Given the description of an element on the screen output the (x, y) to click on. 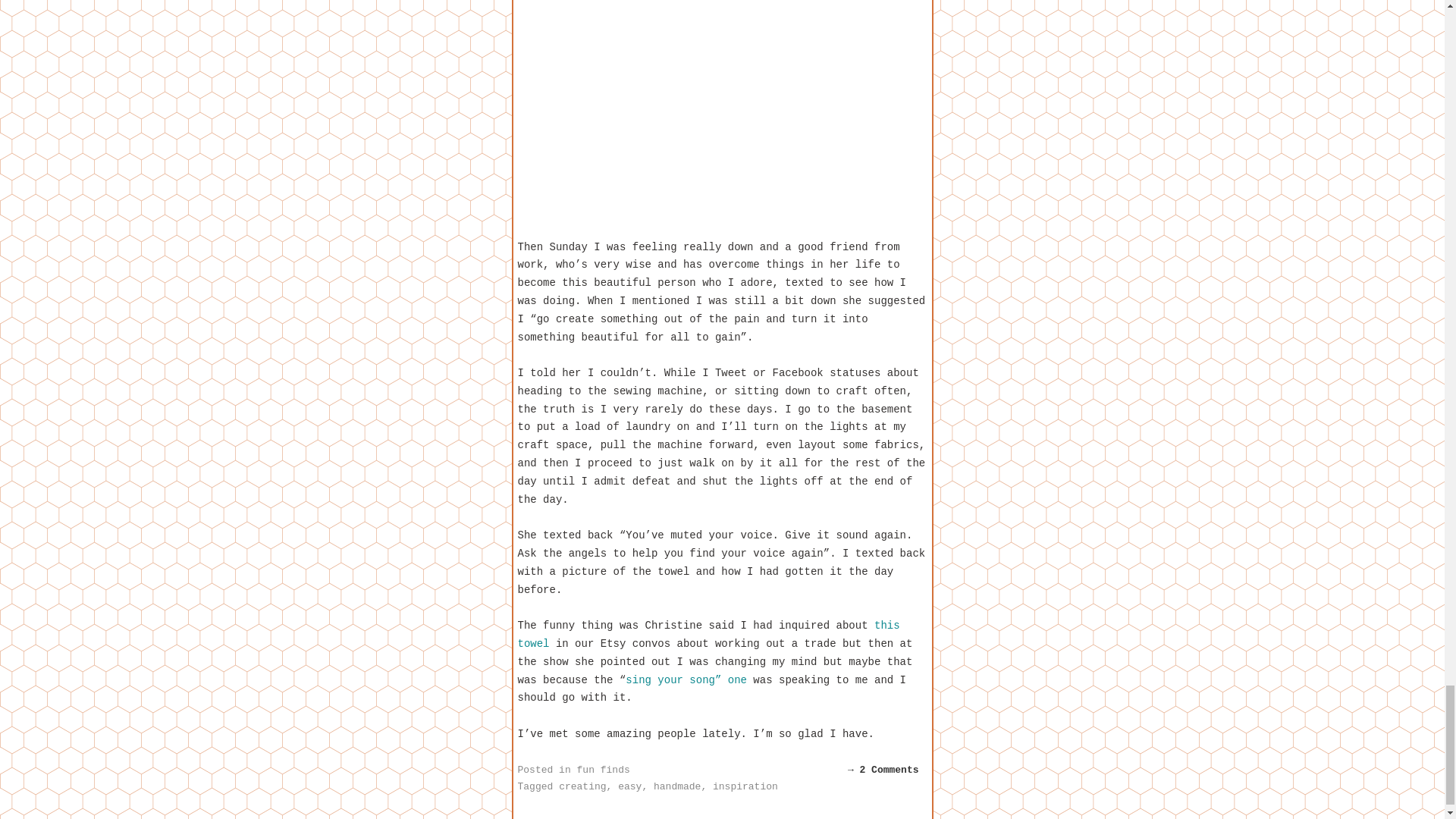
creating (582, 786)
singyournote (721, 110)
fun finds (603, 769)
easy (629, 786)
handmade (676, 786)
inspiration (745, 786)
this towel (707, 634)
